Given the description of an element on the screen output the (x, y) to click on. 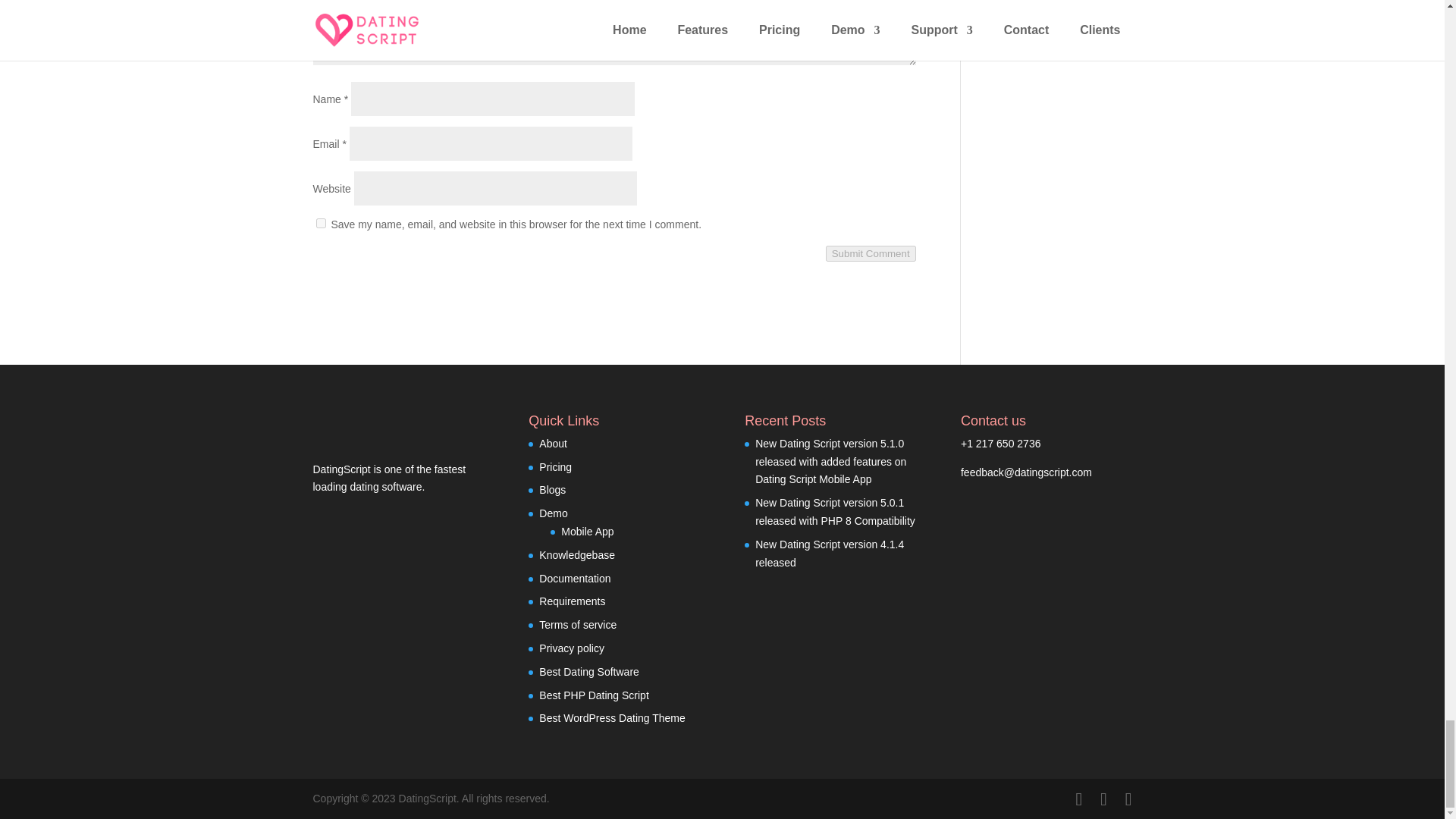
yes (319, 223)
